Given the description of an element on the screen output the (x, y) to click on. 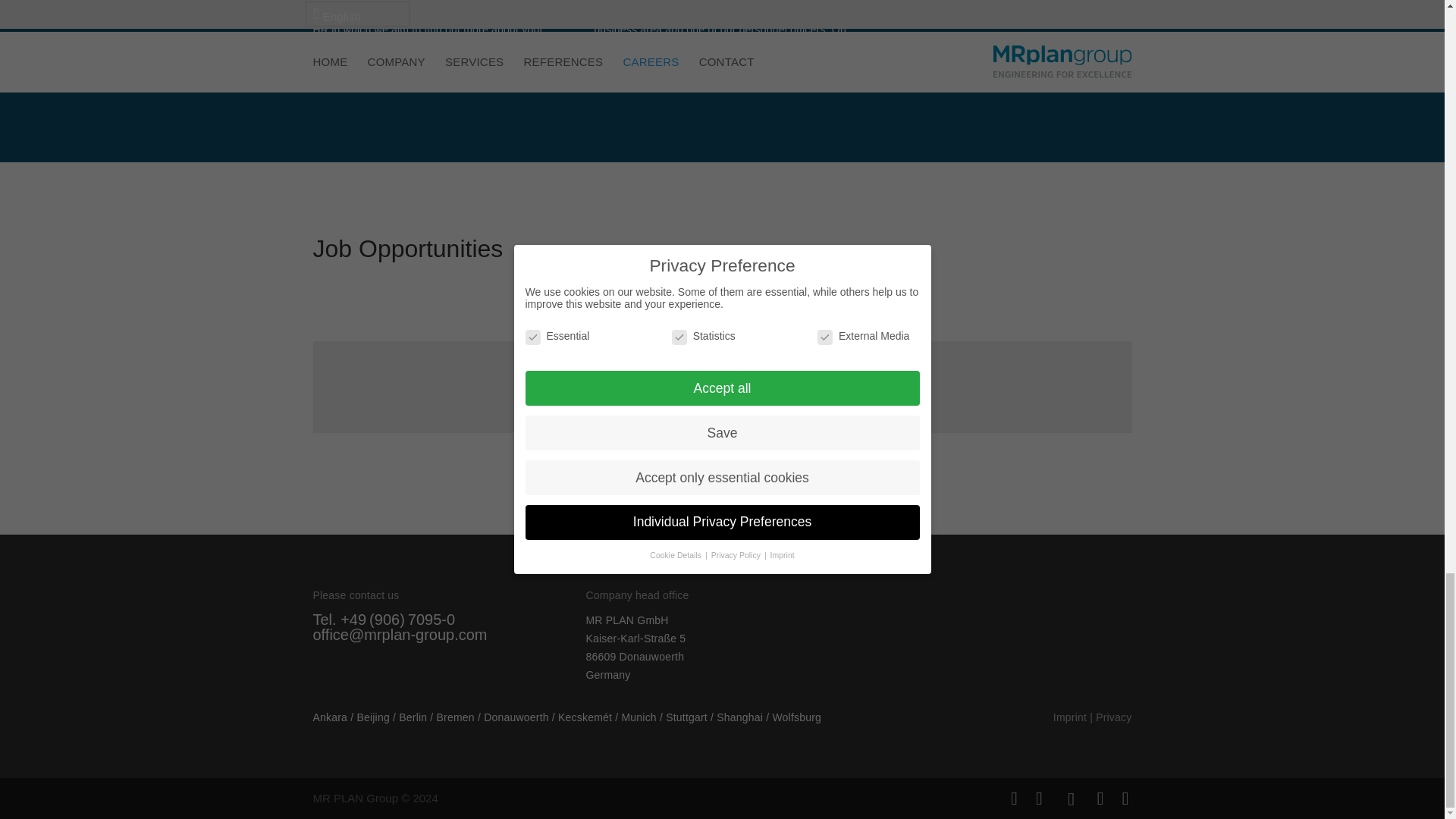
Imprint (1069, 717)
Load Personio (722, 385)
1 (673, 415)
Privacy (1113, 717)
